Given the description of an element on the screen output the (x, y) to click on. 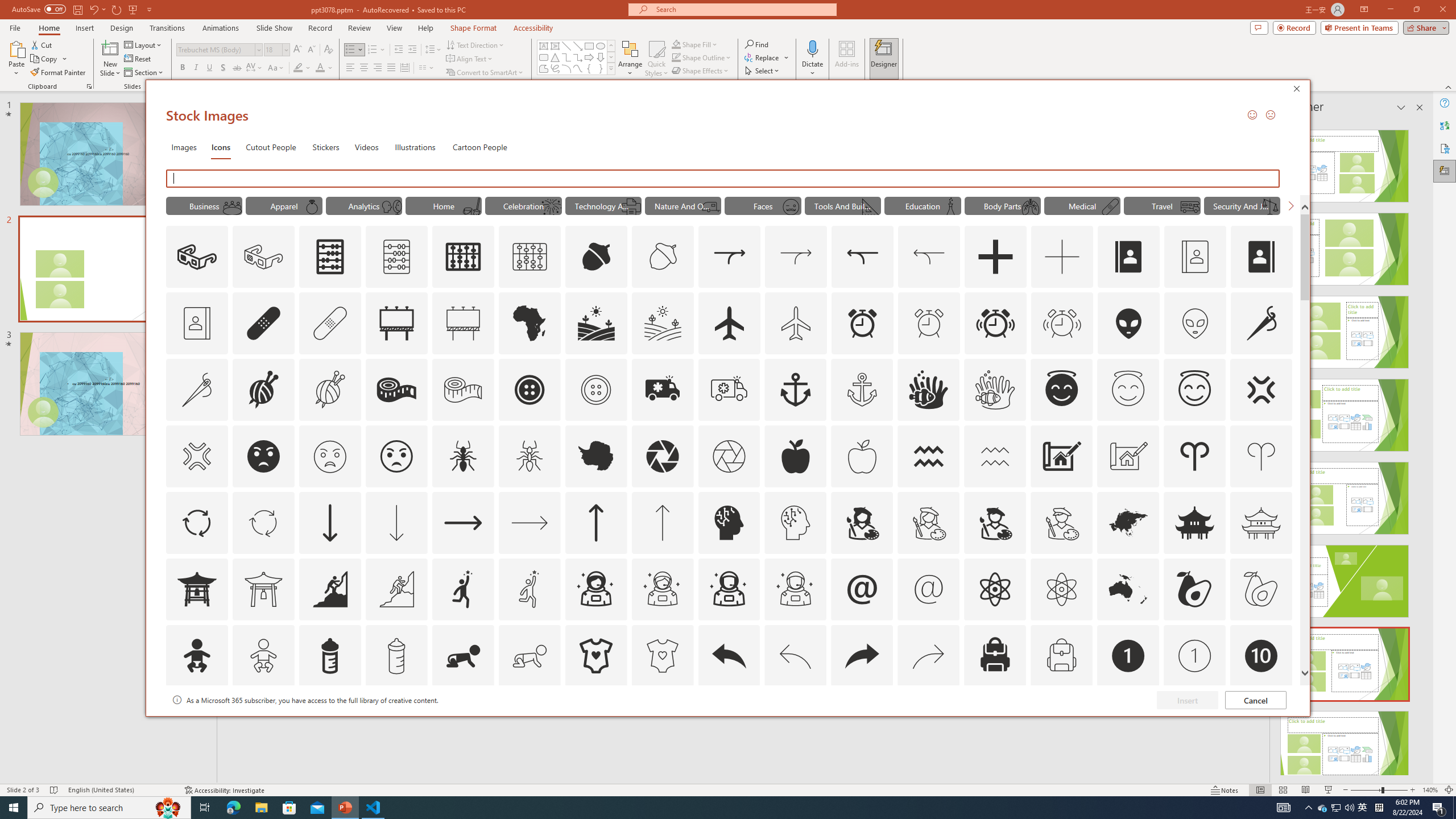
AutomationID: Icons_Asia (1128, 522)
AutomationID: Icons_Airplane_M (796, 323)
"Celebration" Icons. (523, 205)
AutomationID: Icons_AngryFace_M (329, 455)
AutomationID: Icons_ArrowUp (595, 522)
AutomationID: Icons_Badge3_M (462, 721)
